Given the description of an element on the screen output the (x, y) to click on. 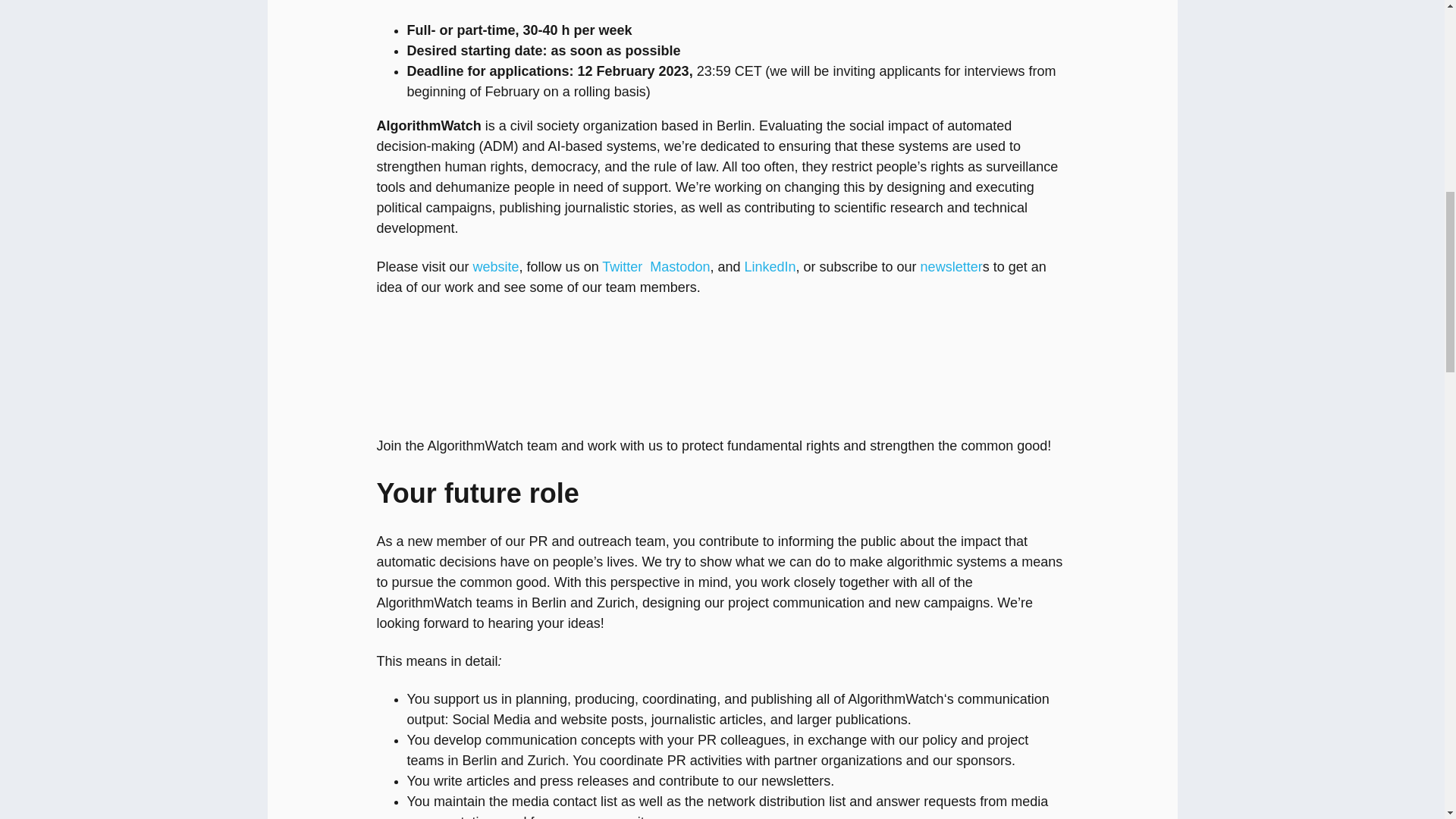
LinkedIn (769, 266)
Twitter (622, 266)
Mastodon (679, 266)
website (496, 266)
newsletter (951, 266)
